Given the description of an element on the screen output the (x, y) to click on. 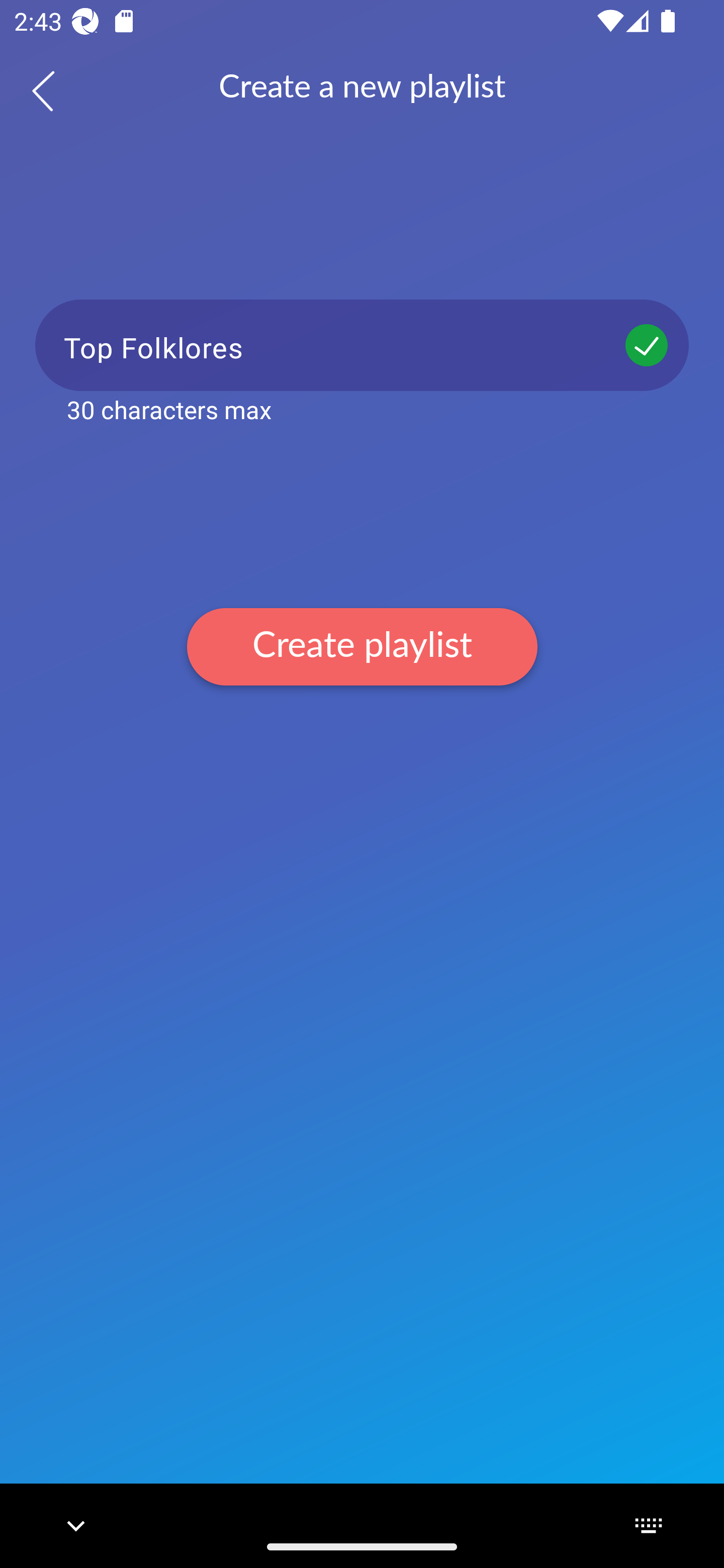
Top Folklores (361, 344)
Create playlist (362, 646)
